Given the description of an element on the screen output the (x, y) to click on. 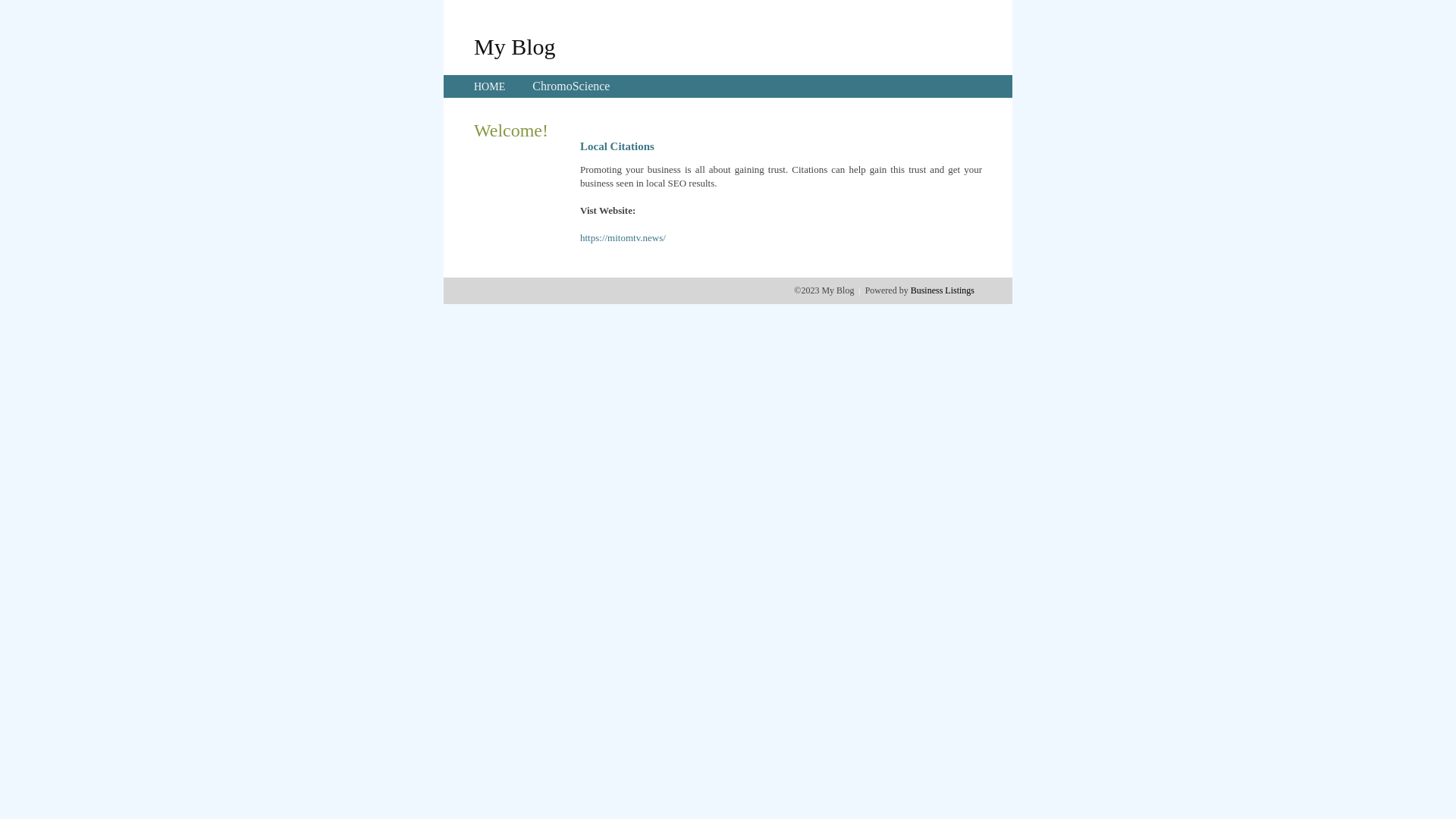
Business Listings Element type: text (942, 290)
HOME Element type: text (489, 86)
https://mitomtv.news/ Element type: text (622, 237)
ChromoScience Element type: text (570, 85)
My Blog Element type: text (514, 46)
